Given the description of an element on the screen output the (x, y) to click on. 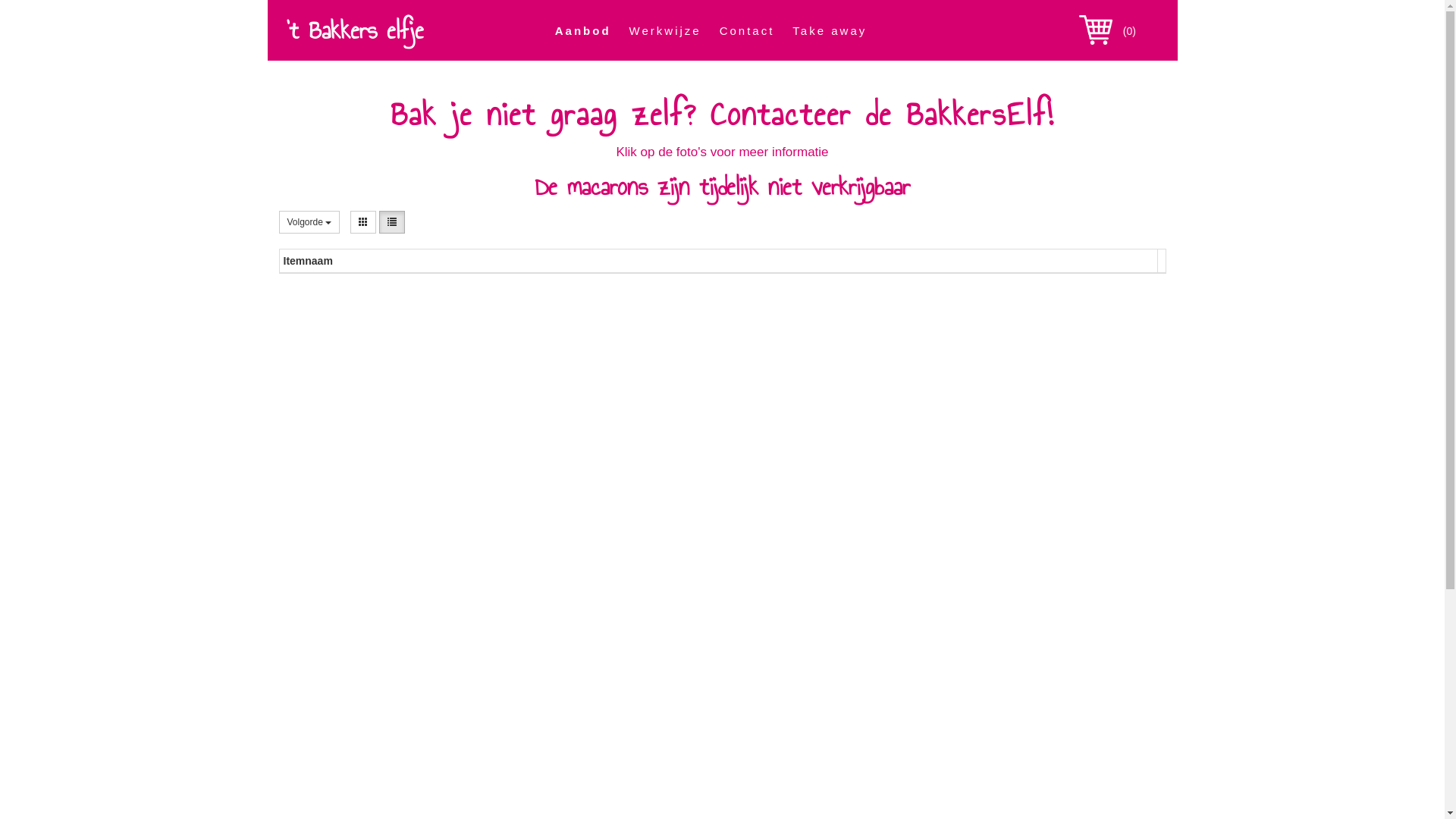
Take away Element type: text (829, 30)
Werkwijze Element type: text (664, 30)
Contact Element type: text (747, 30)
Volgorde Element type: text (309, 221)
Aanbod Element type: text (582, 30)
